Given the description of an element on the screen output the (x, y) to click on. 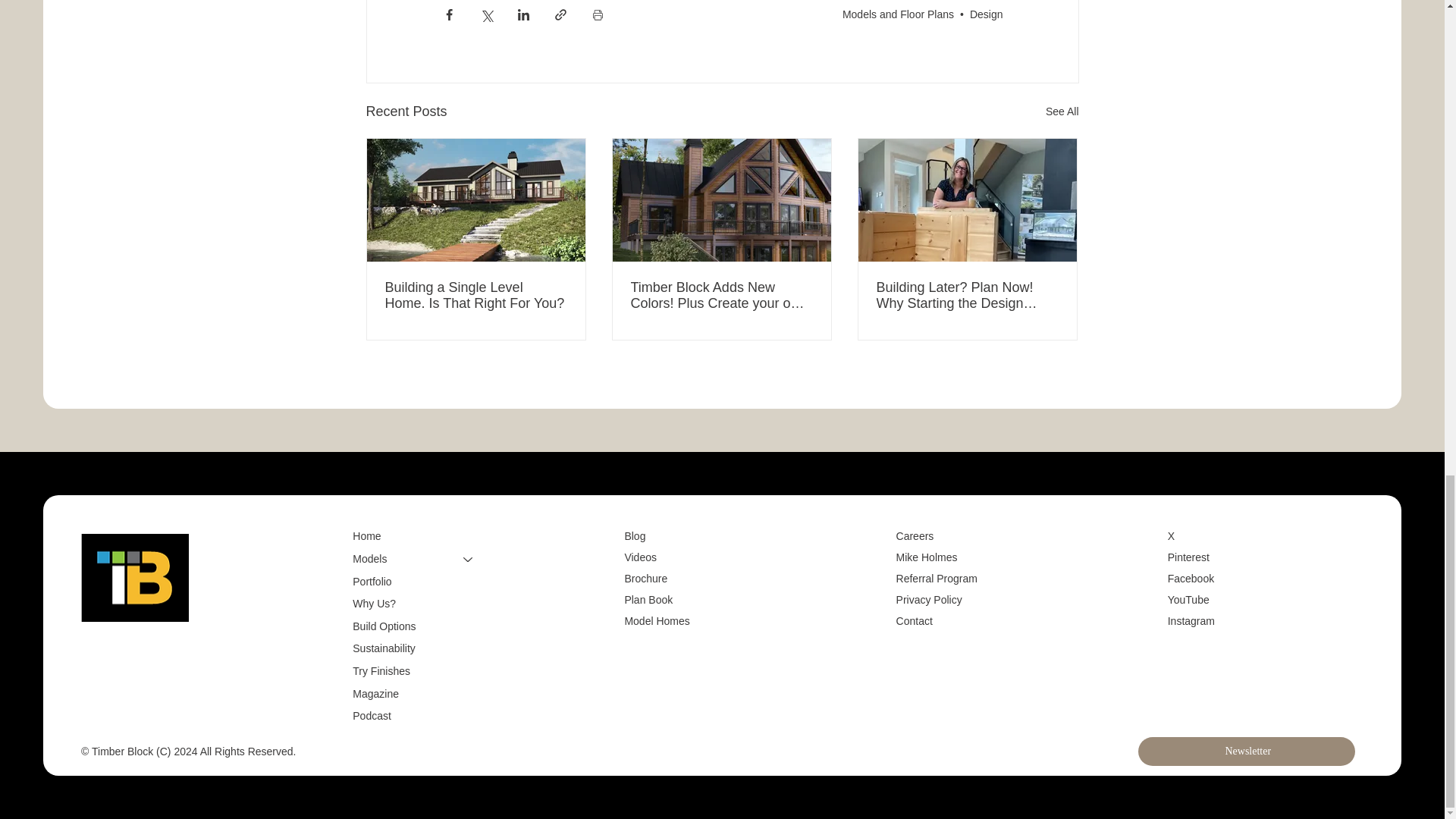
Models and Floor Plans (898, 14)
Home (419, 536)
Design (986, 14)
Building a Single Level Home. Is That Right For You? (476, 296)
See All (1061, 111)
